Given the description of an element on the screen output the (x, y) to click on. 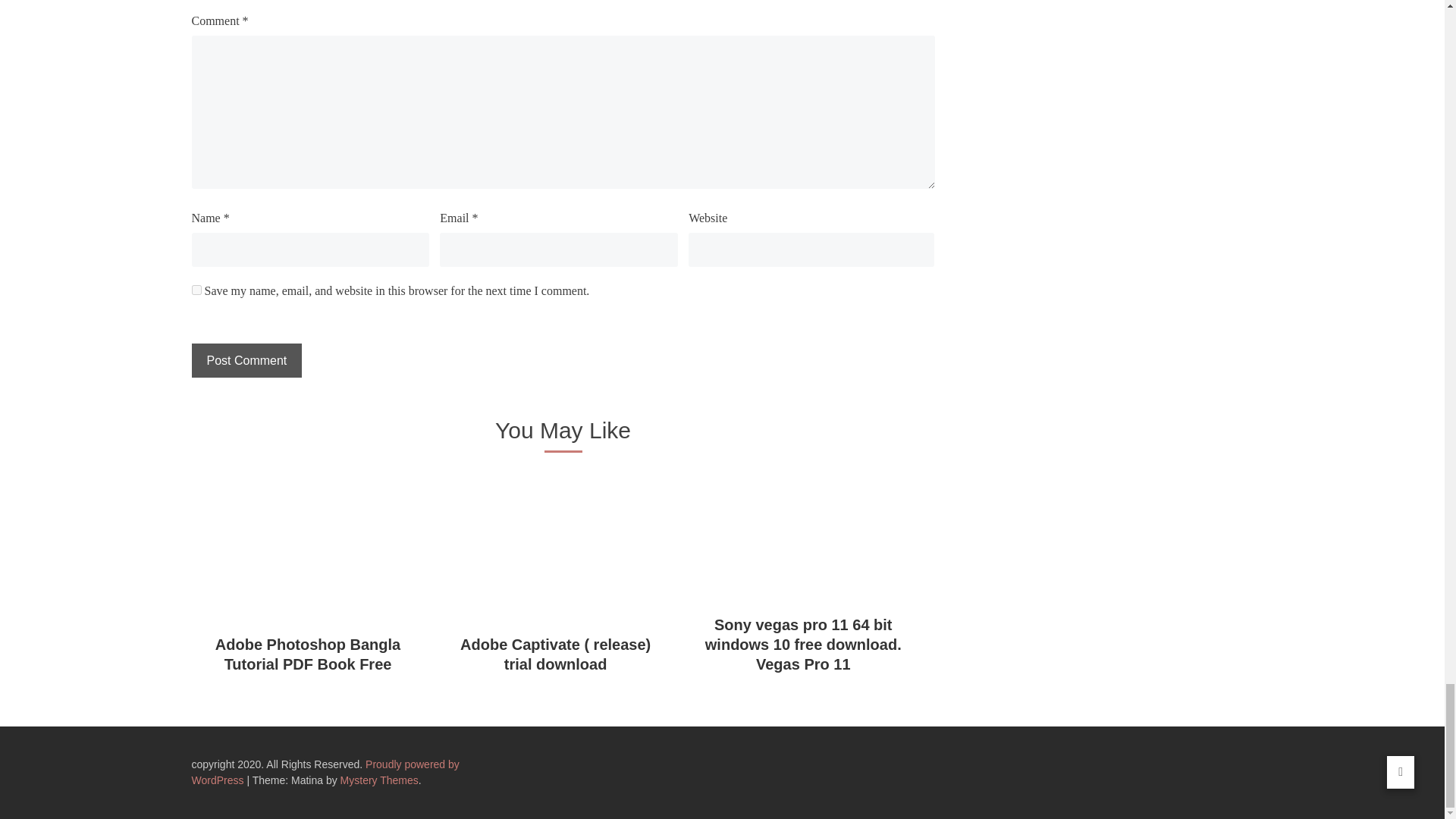
Adobe Photoshop Bangla Tutorial PDF Book Free (307, 654)
Post Comment (245, 360)
yes (195, 289)
Post Comment (245, 360)
Adobe Photoshop Bangla Tutorial PDF Book Free (307, 654)
